Given the description of an element on the screen output the (x, y) to click on. 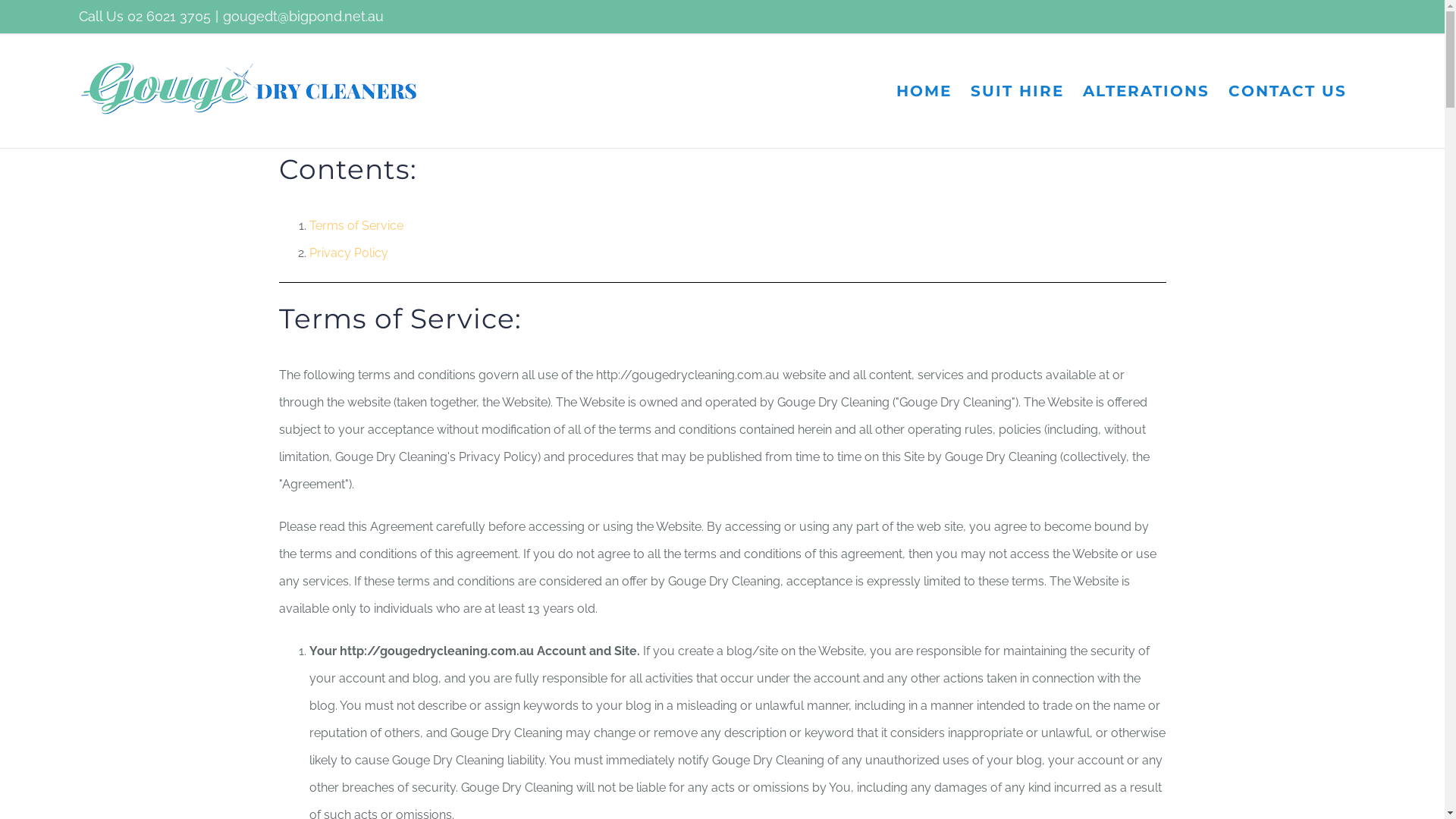
HOME Element type: text (923, 90)
Privacy Policy Element type: text (348, 252)
Terms of Service Element type: text (356, 225)
ALTERATIONS Element type: text (1145, 90)
SUIT HIRE Element type: text (1016, 90)
gougedt@bigpond.net.au Element type: text (302, 16)
CONTACT US Element type: text (1287, 90)
